Given the description of an element on the screen output the (x, y) to click on. 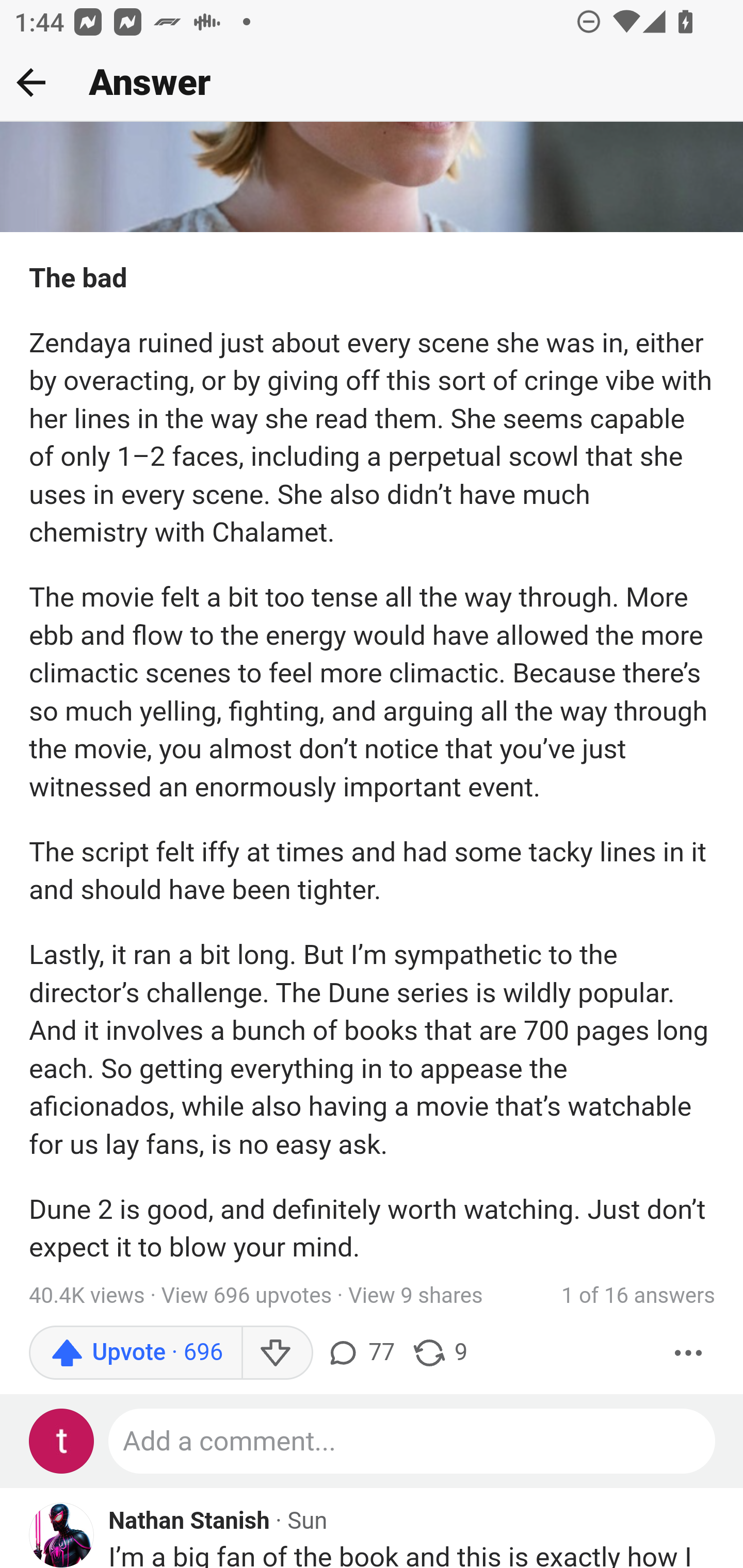
Back (30, 82)
View 696 upvotes (246, 1297)
View 9 shares (414, 1297)
1 of 16 answers (637, 1296)
Profile photo for Test Appium (61, 1441)
Add a comment... (412, 1441)
Profile photo for Nathan Stanish (61, 1535)
Nathan Stanish (189, 1523)
